Given the description of an element on the screen output the (x, y) to click on. 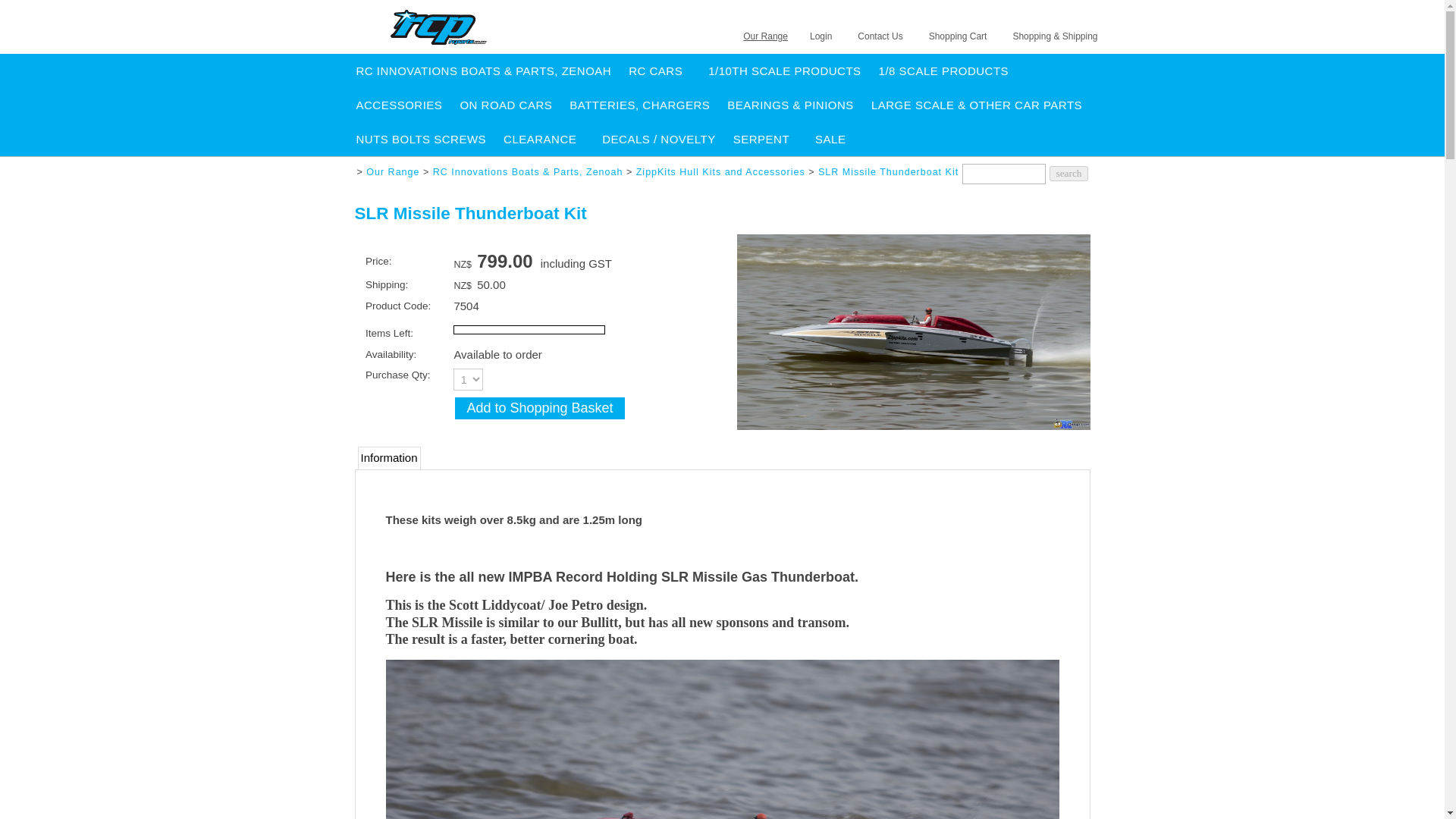
Add to Shopping Basket (539, 408)
Shopping Cart (957, 36)
Login (820, 36)
SLR Missile Thunderboat Kit (913, 425)
Contact Us (879, 36)
Our Range (764, 36)
